Given the description of an element on the screen output the (x, y) to click on. 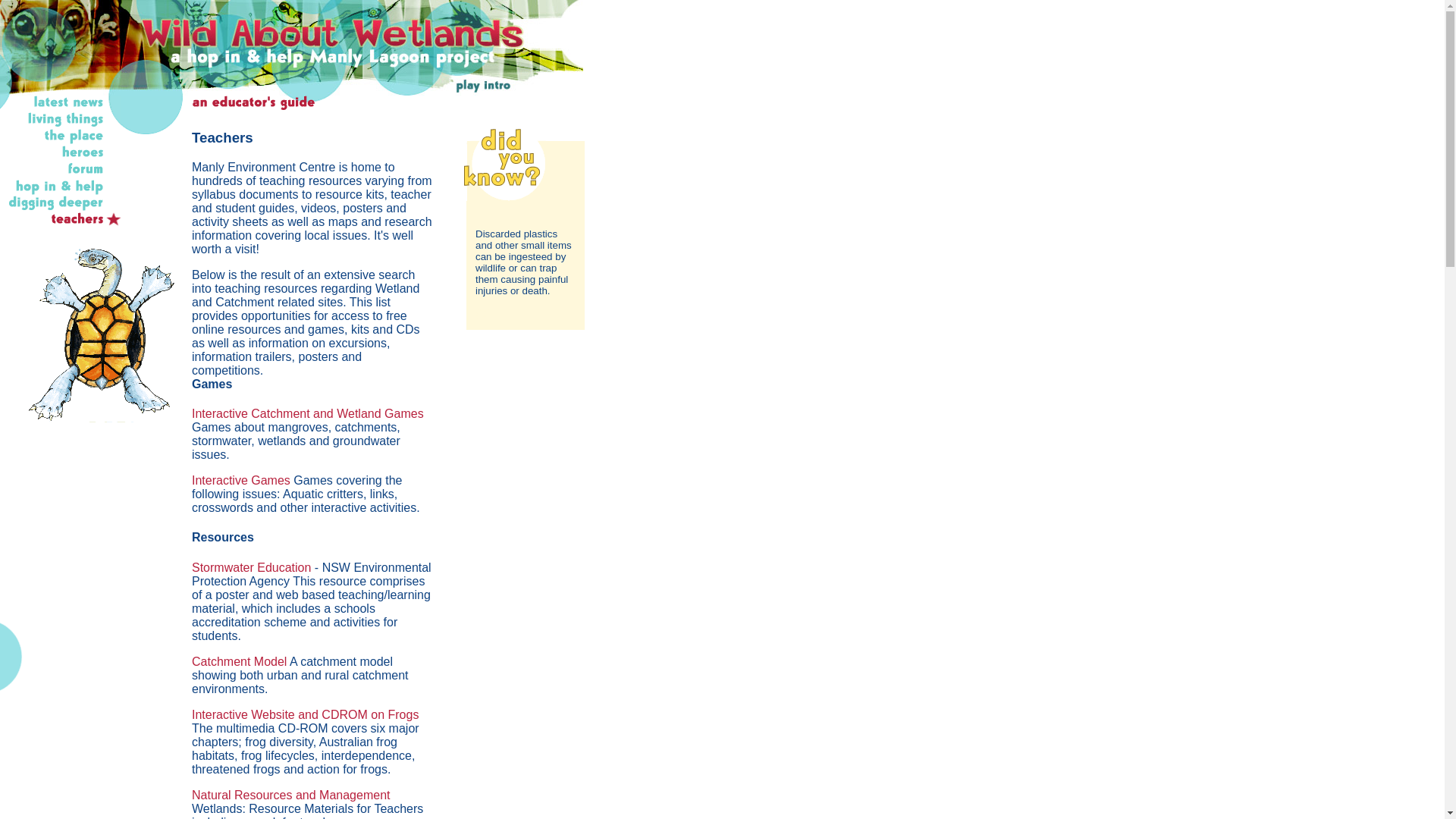
Interactive Catchment and Wetland Games Element type: text (307, 413)
Interactive Website and CDROM on Frogs Element type: text (304, 714)
Interactive Games Element type: text (240, 479)
Natural Resources and Management Element type: text (290, 794)
Stormwater Education Element type: text (250, 567)
Catchment Model Element type: text (238, 661)
